Given the description of an element on the screen output the (x, y) to click on. 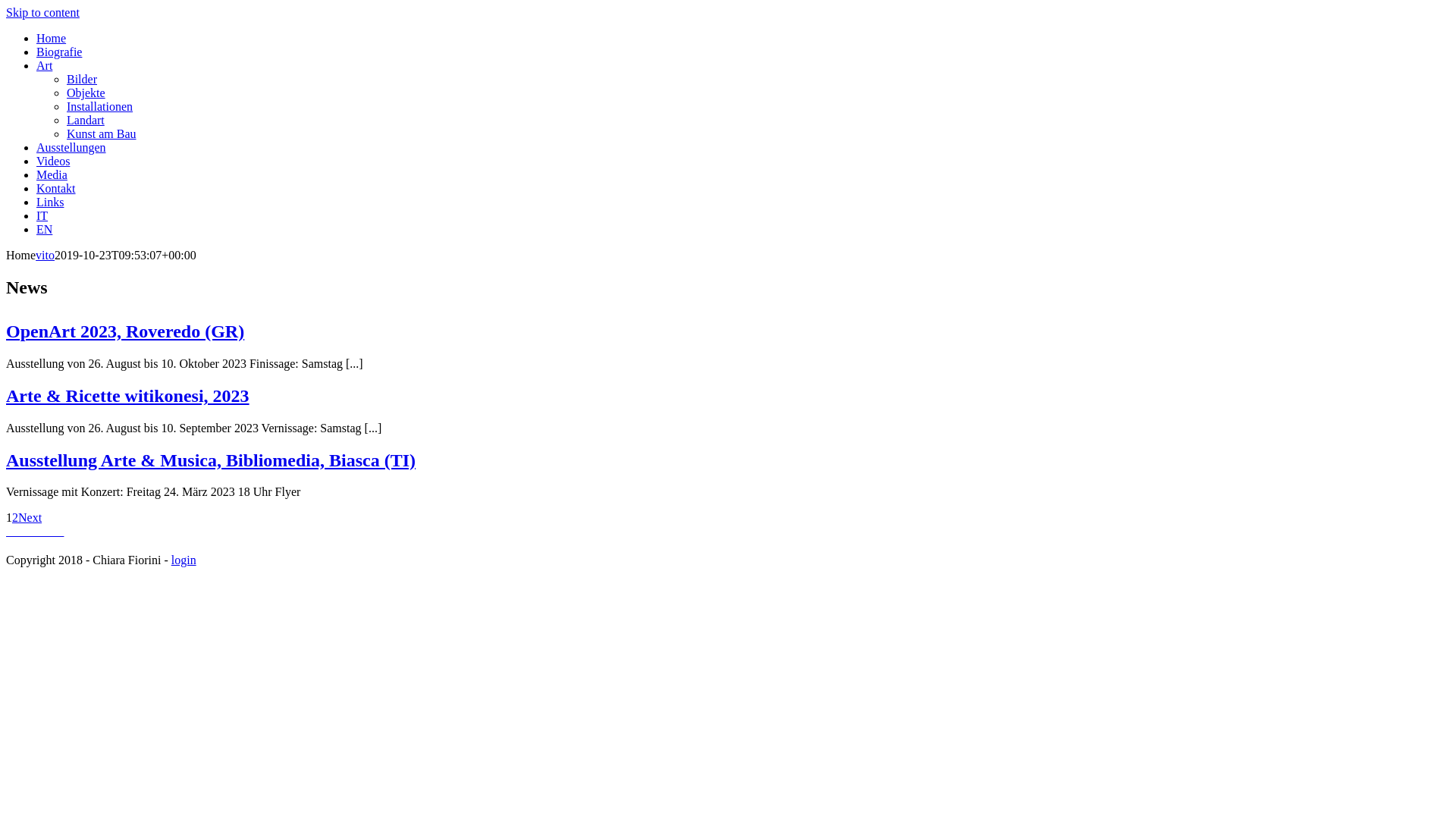
Kontakt Element type: text (55, 188)
Skip to content Element type: text (42, 12)
Media Element type: text (51, 174)
Landart Element type: text (85, 119)
EN Element type: text (44, 228)
Art Element type: text (44, 65)
Links Element type: text (49, 201)
Bilder Element type: text (81, 78)
2 Element type: text (15, 517)
Newsarchiv Element type: text (34, 530)
vito Element type: text (44, 254)
Videos Element type: text (52, 160)
Arte & Ricette witikonesi, 2023 Element type: text (127, 395)
IT Element type: text (41, 215)
Biografie Element type: text (58, 51)
OpenArt 2023, Roveredo (GR) Element type: text (125, 331)
login Element type: text (183, 559)
Installationen Element type: text (99, 106)
Home Element type: text (50, 37)
Ausstellungen Element type: text (71, 147)
Ausstellung Arte & Musica, Bibliomedia, Biasca (TI) Element type: text (210, 460)
Kunst am Bau Element type: text (101, 133)
Objekte Element type: text (85, 92)
Next Element type: text (29, 517)
